Given the description of an element on the screen output the (x, y) to click on. 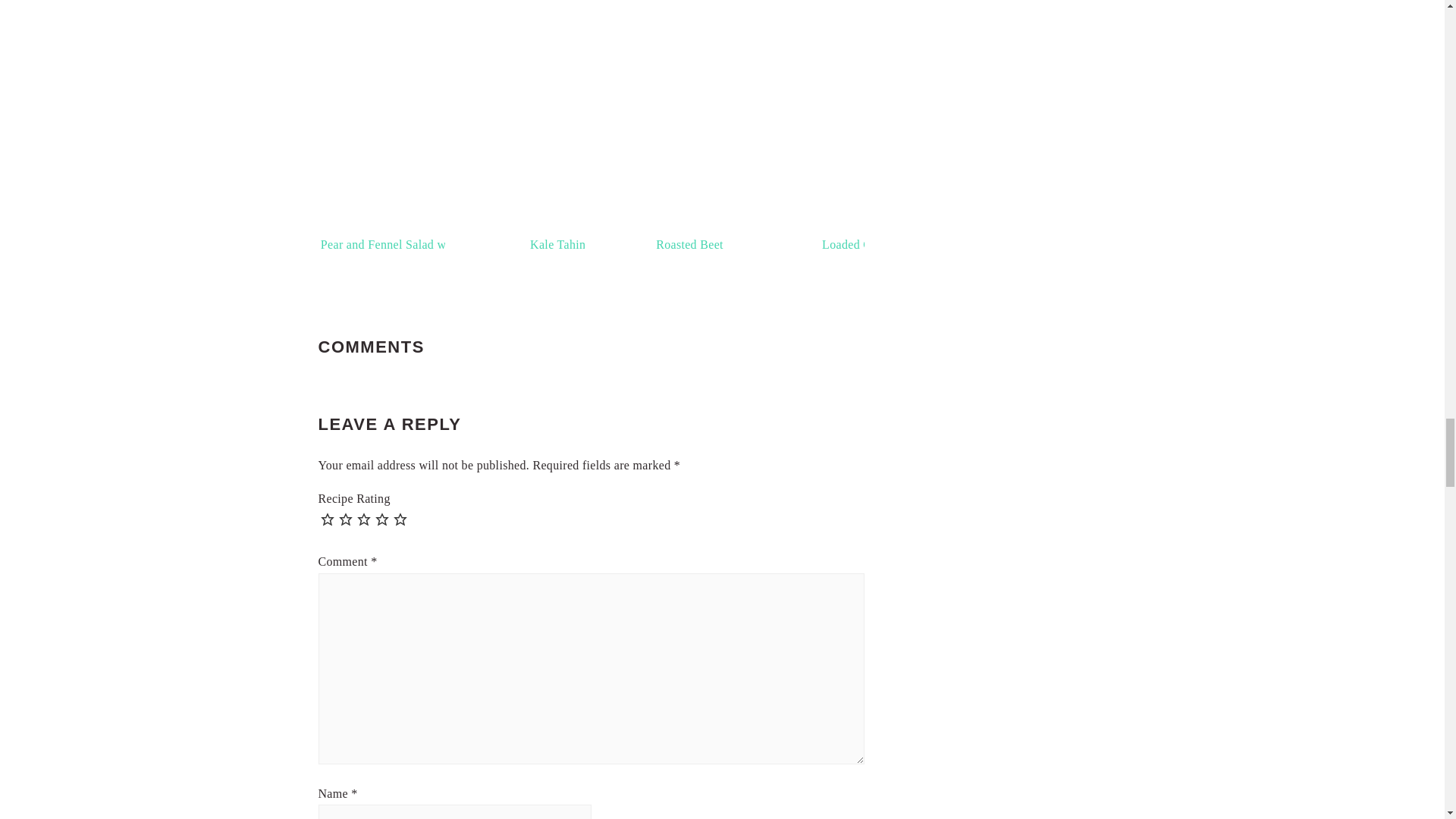
Kale Tahini Caesar Salad (594, 128)
Pear and Fennel Salad with Pomegranate Vinaigrette (454, 128)
Loaded Greek Salad (873, 128)
Roasted Beet and Carrot Salad (733, 128)
